Given the description of an element on the screen output the (x, y) to click on. 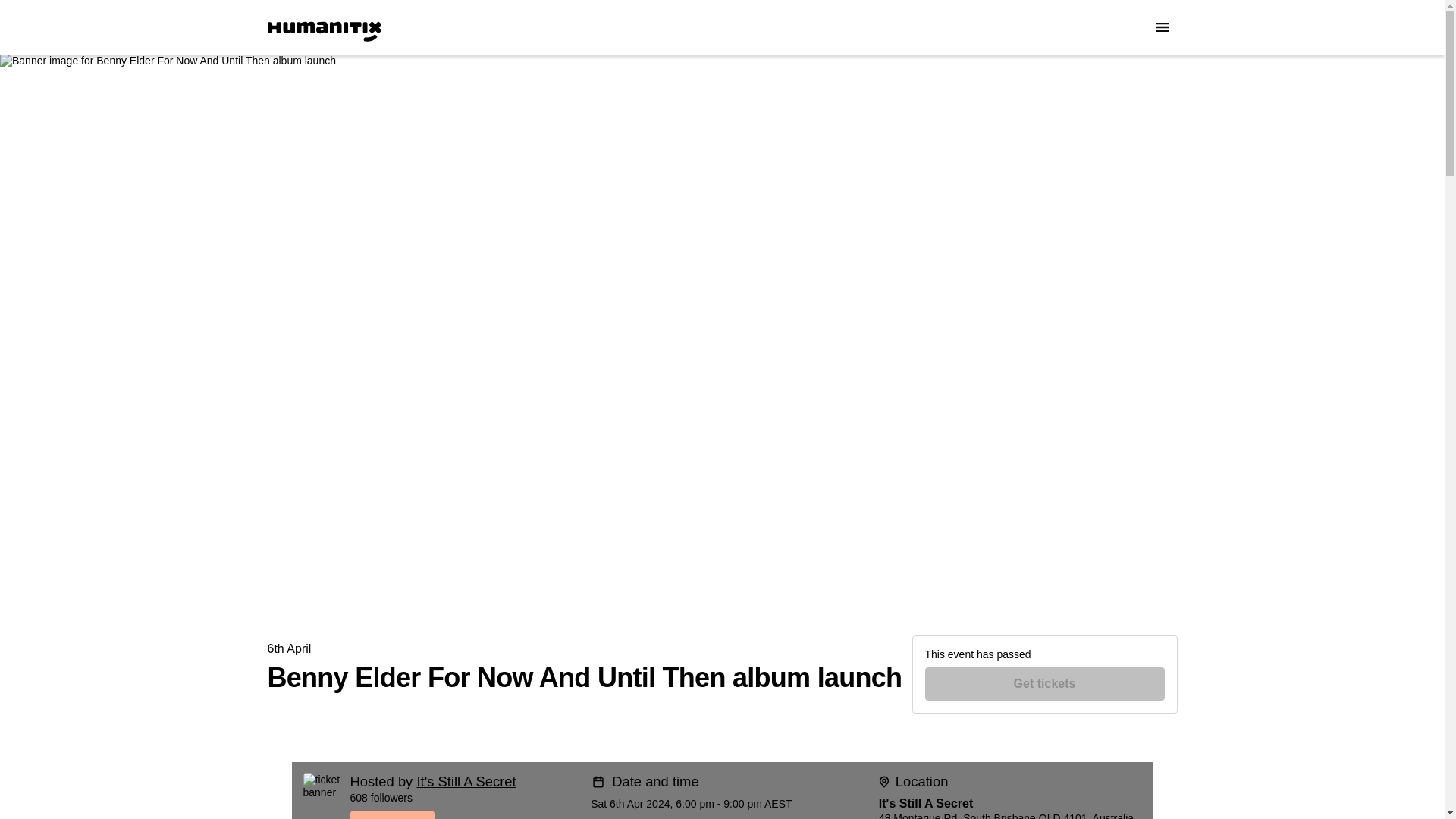
Get tickets (1044, 684)
Follow (465, 814)
Skip to Content (18, 18)
It's Still A Secret (465, 781)
